Given the description of an element on the screen output the (x, y) to click on. 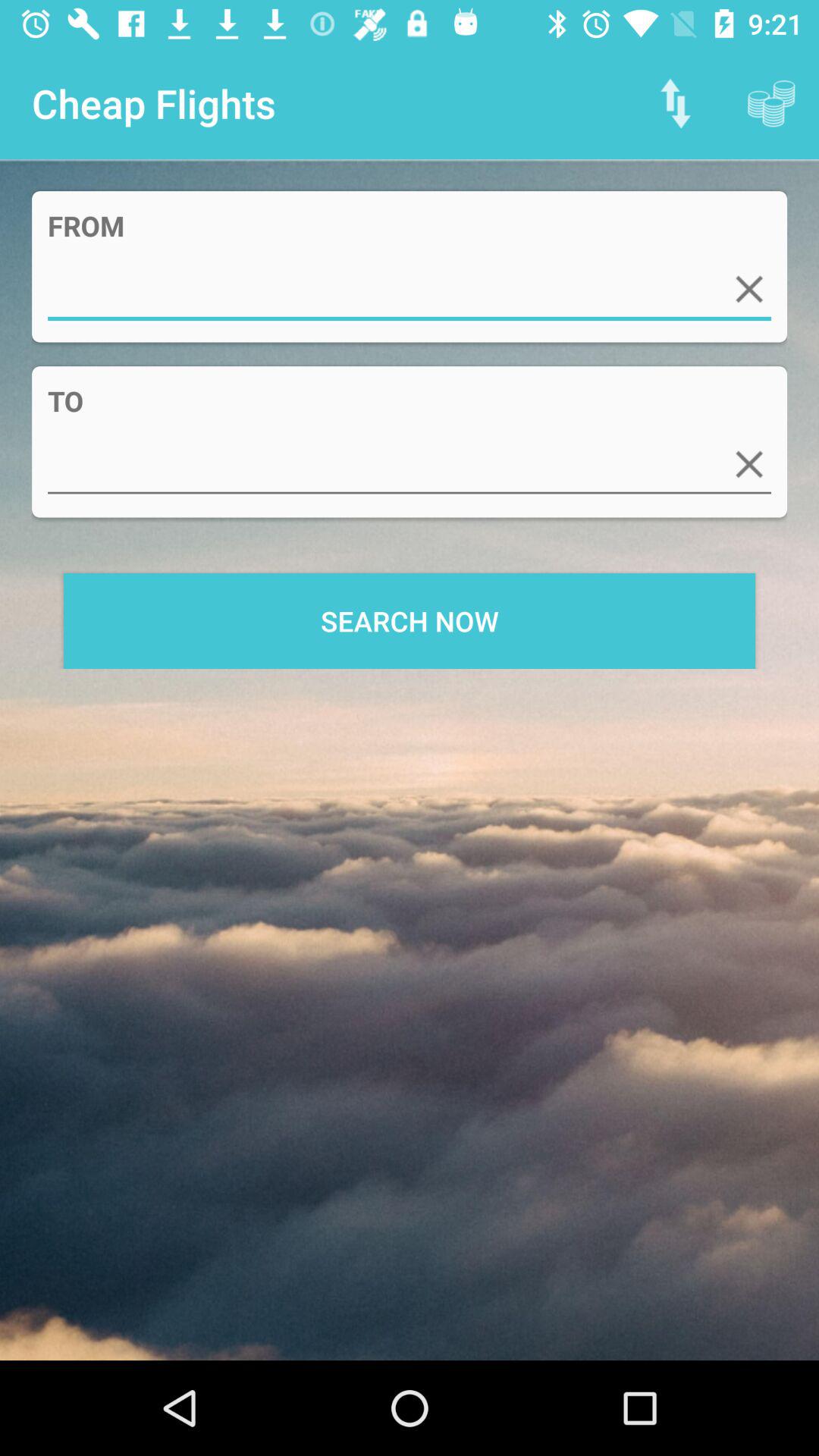
select the icon below from item (409, 289)
